Given the description of an element on the screen output the (x, y) to click on. 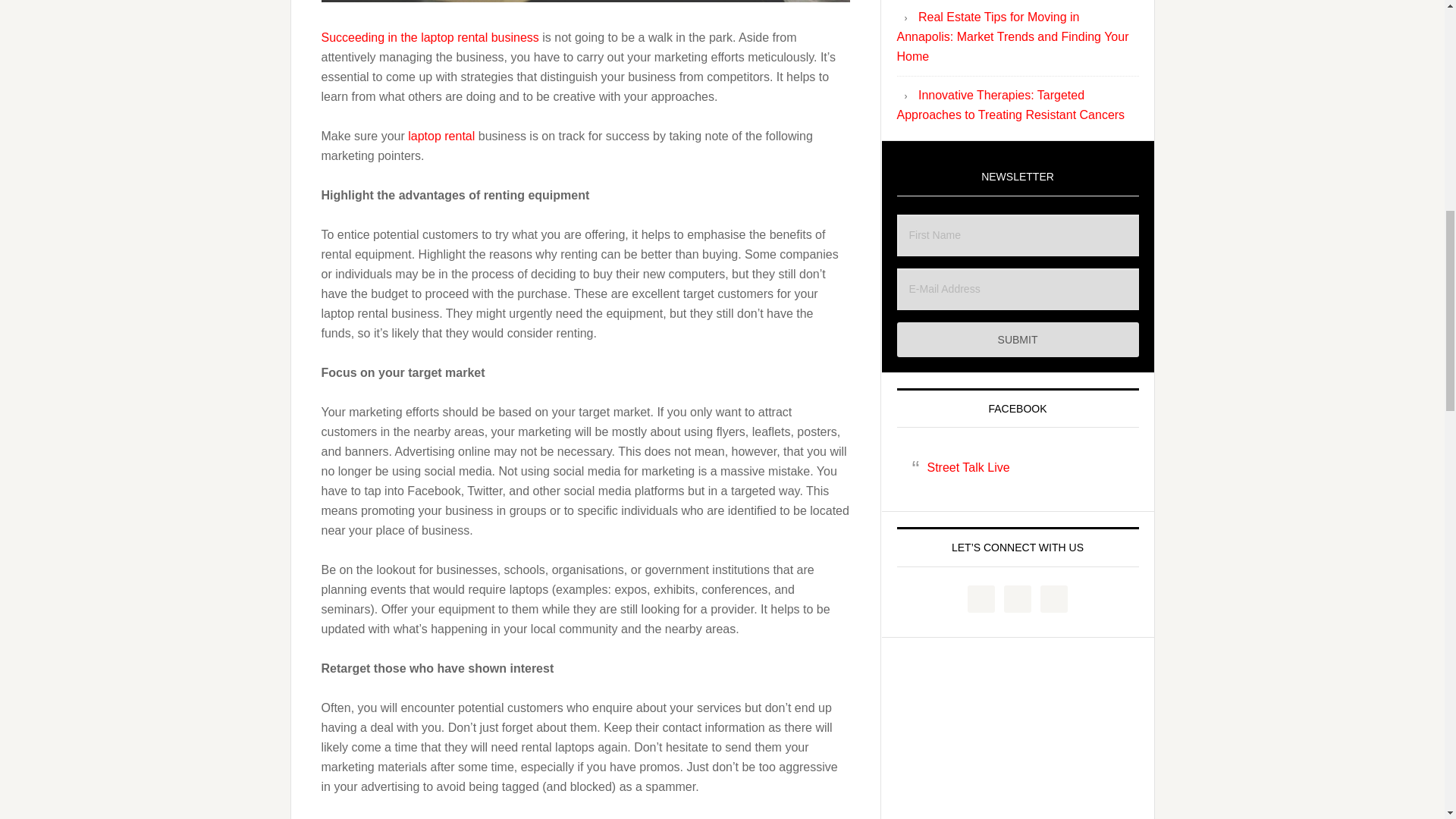
laptop rental (440, 135)
Submit (1017, 339)
Succeeding in the laptop rental business (429, 37)
